Given the description of an element on the screen output the (x, y) to click on. 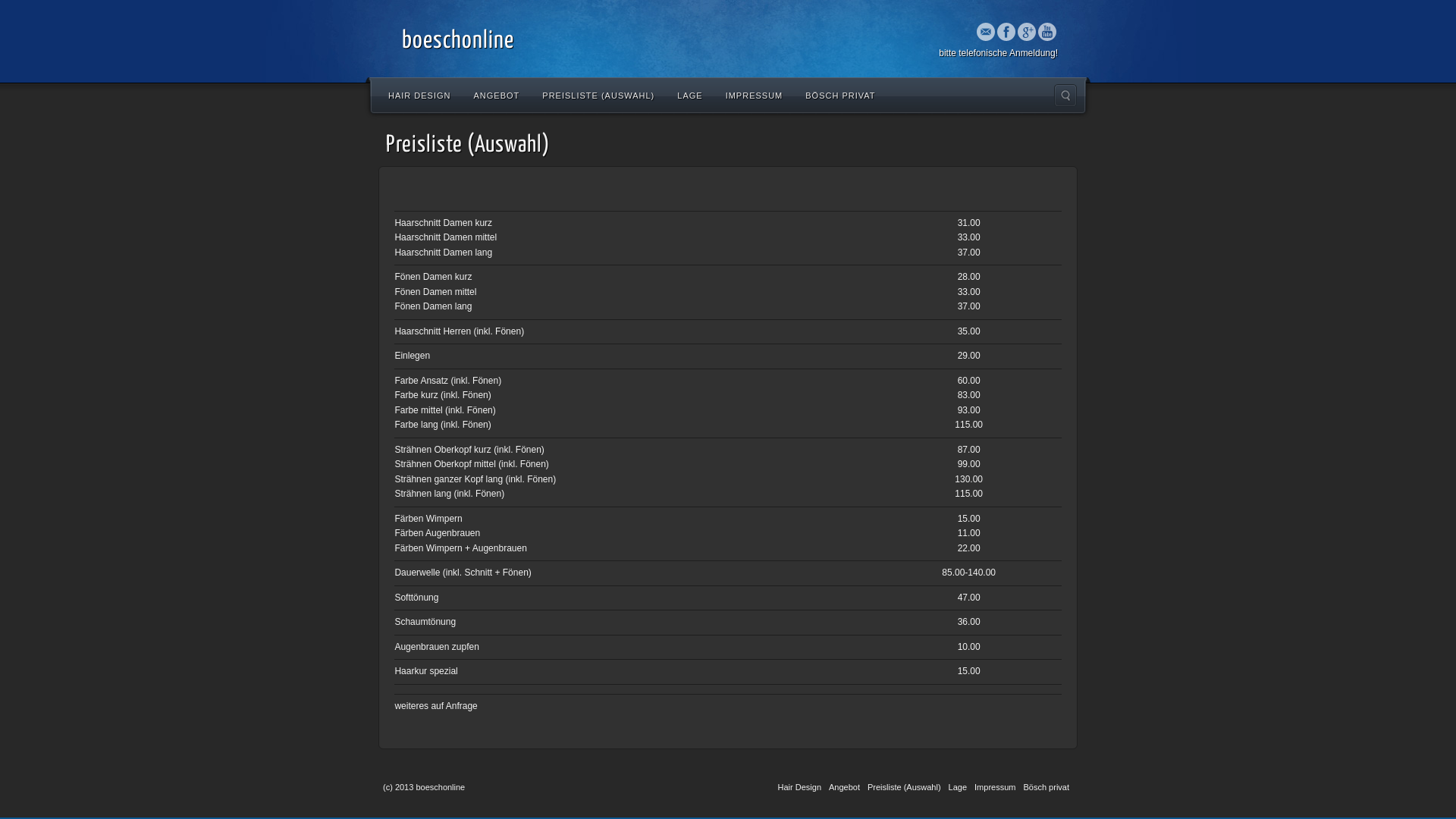
ANGEBOT Element type: text (496, 94)
PREISLISTE (AUSWAHL) Element type: text (597, 94)
Search the site... Element type: text (1065, 95)
Impressum Element type: text (994, 786)
Preisliste (Auswahl) Element type: text (904, 786)
Facebook Element type: text (1006, 31)
Youtube Element type: text (1047, 31)
Hair Design Element type: text (799, 786)
HAIR DESIGN Element type: text (419, 94)
Email Element type: text (985, 31)
IMPRESSUM Element type: text (754, 94)
Google Element type: text (1026, 31)
boeschonline Element type: text (457, 40)
Angebot Element type: text (843, 786)
LAGE Element type: text (689, 94)
Lage Element type: text (957, 786)
